Given the description of an element on the screen output the (x, y) to click on. 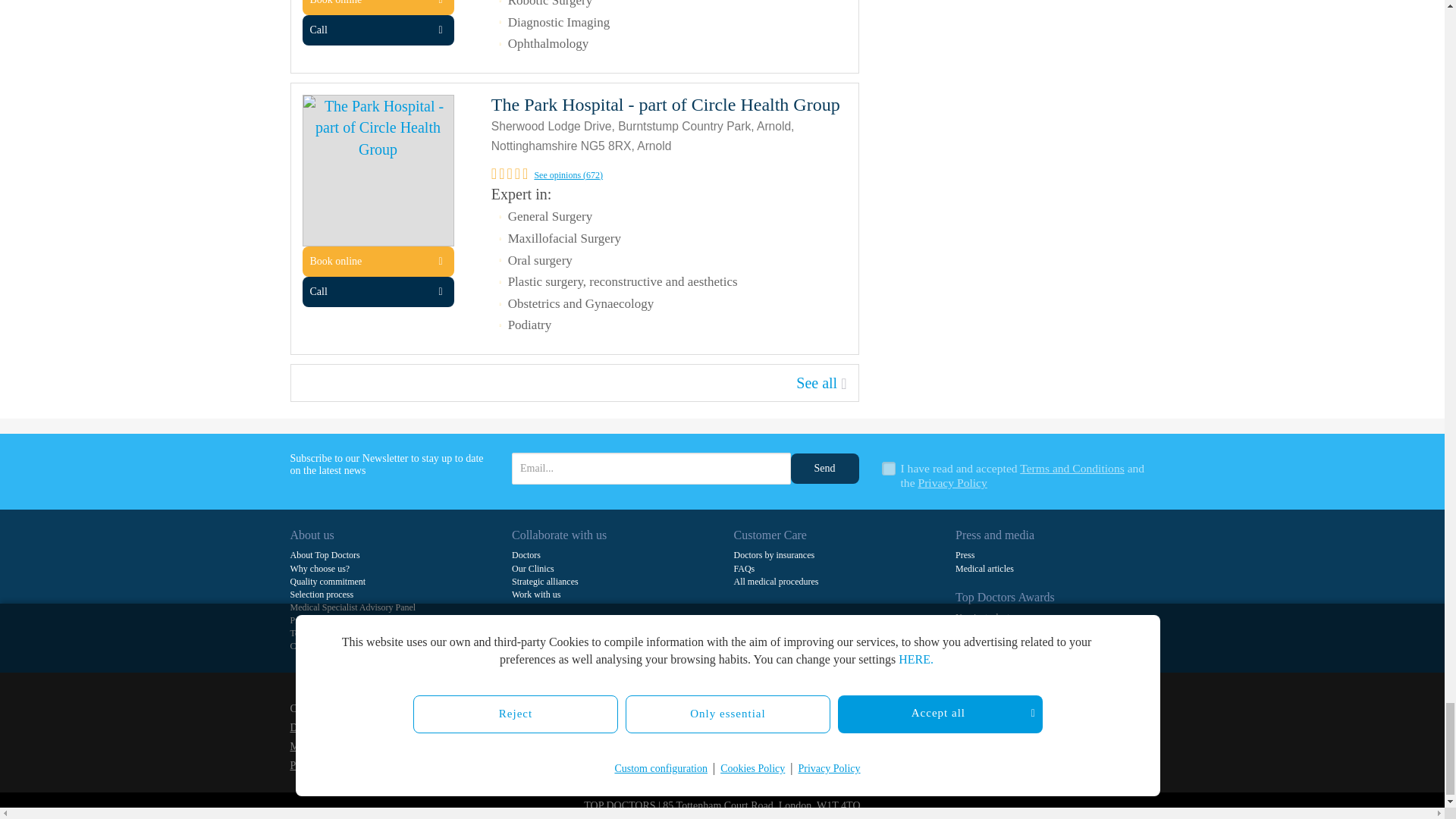
Top Doctors en Youtube (829, 737)
Top Doctors en Facebook (746, 737)
Top Doctors su Instagram (915, 737)
Top Doctors su Spotify (1045, 737)
Top Doctors en Twitter (774, 737)
Top Doctors en Linkedin (802, 737)
